Given the description of an element on the screen output the (x, y) to click on. 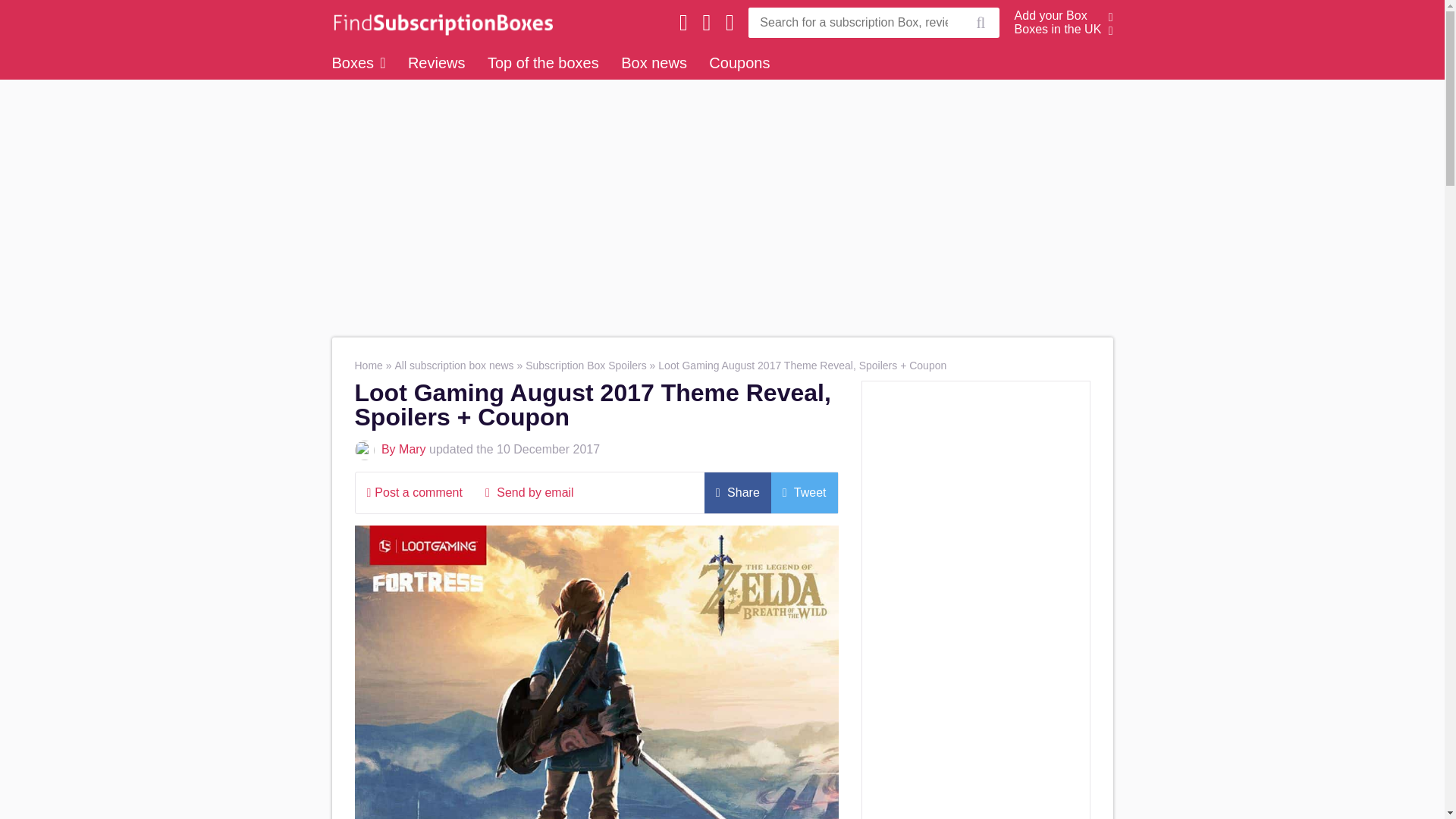
Boxes (358, 62)
Boxes in the UK (1058, 29)
Find Subscription Boxes (437, 22)
Add your Box (1050, 15)
Search for: (854, 22)
